Given the description of an element on the screen output the (x, y) to click on. 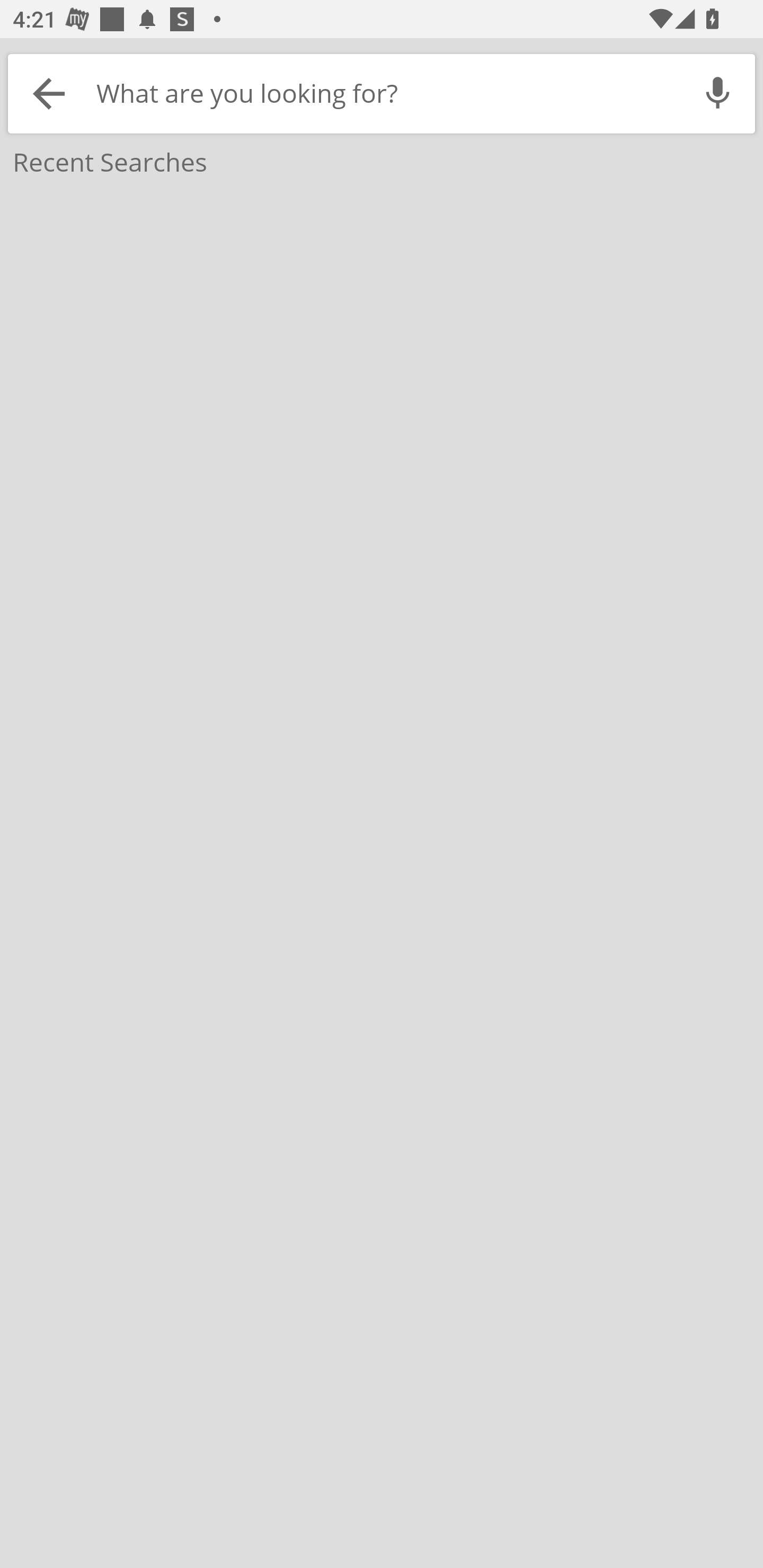
What are you looking for? (385, 93)
